Given the description of an element on the screen output the (x, y) to click on. 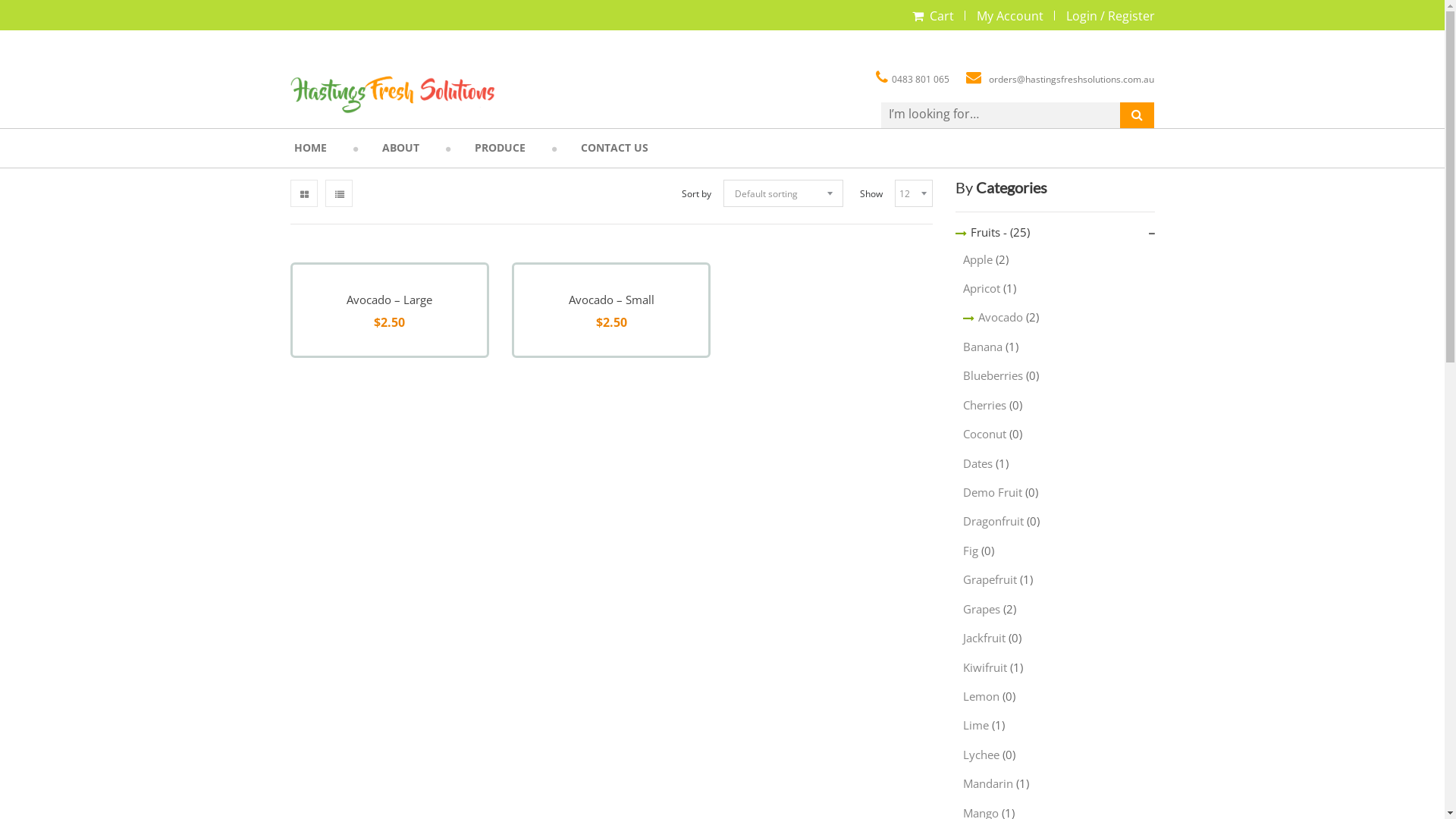
Grapes Element type: text (981, 608)
Cart Element type: text (941, 15)
List View Element type: hover (337, 193)
Login / Register Element type: text (1110, 15)
Lychee Element type: text (981, 754)
ABOUT Element type: text (399, 147)
Lime Element type: text (975, 724)
CONTACT US Element type: text (613, 147)
Grid View Element type: hover (302, 193)
HOME Element type: text (309, 147)
PRODUCE Element type: text (499, 147)
Coconut Element type: text (984, 433)
Fig Element type: text (970, 550)
Cherries Element type: text (984, 404)
Banana Element type: text (982, 346)
Search for: Element type: hover (1017, 115)
Jackfruit Element type: text (984, 637)
Apple Element type: text (977, 258)
Kiwifruit Element type: text (985, 666)
Avocado Element type: text (992, 316)
Dragonfruit Element type: text (993, 520)
Apricot Element type: text (981, 287)
orders@hastingsfreshsolutions.com.au Element type: text (1053, 78)
Lemon Element type: text (981, 695)
Fruits - Element type: text (981, 231)
Demo Fruit Element type: text (992, 491)
0483 801 065 Element type: text (912, 78)
Mandarin Element type: text (988, 782)
My Account Element type: text (1009, 15)
Blueberries Element type: text (992, 374)
Grapefruit Element type: text (989, 578)
Dates Element type: text (977, 462)
